Given the description of an element on the screen output the (x, y) to click on. 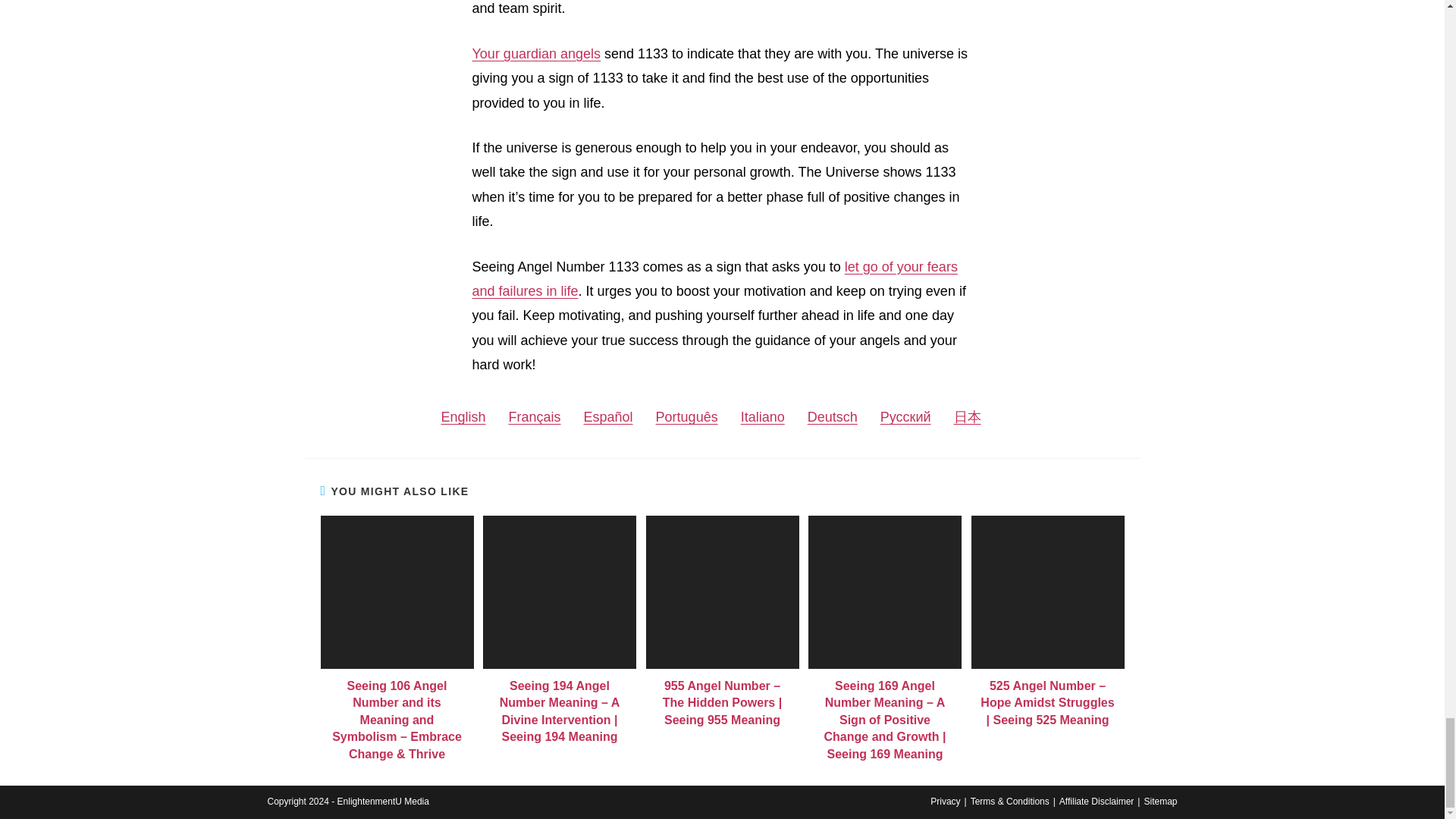
English (462, 416)
let go of your fears and failures in life (713, 278)
Your guardian angels (535, 53)
